Given the description of an element on the screen output the (x, y) to click on. 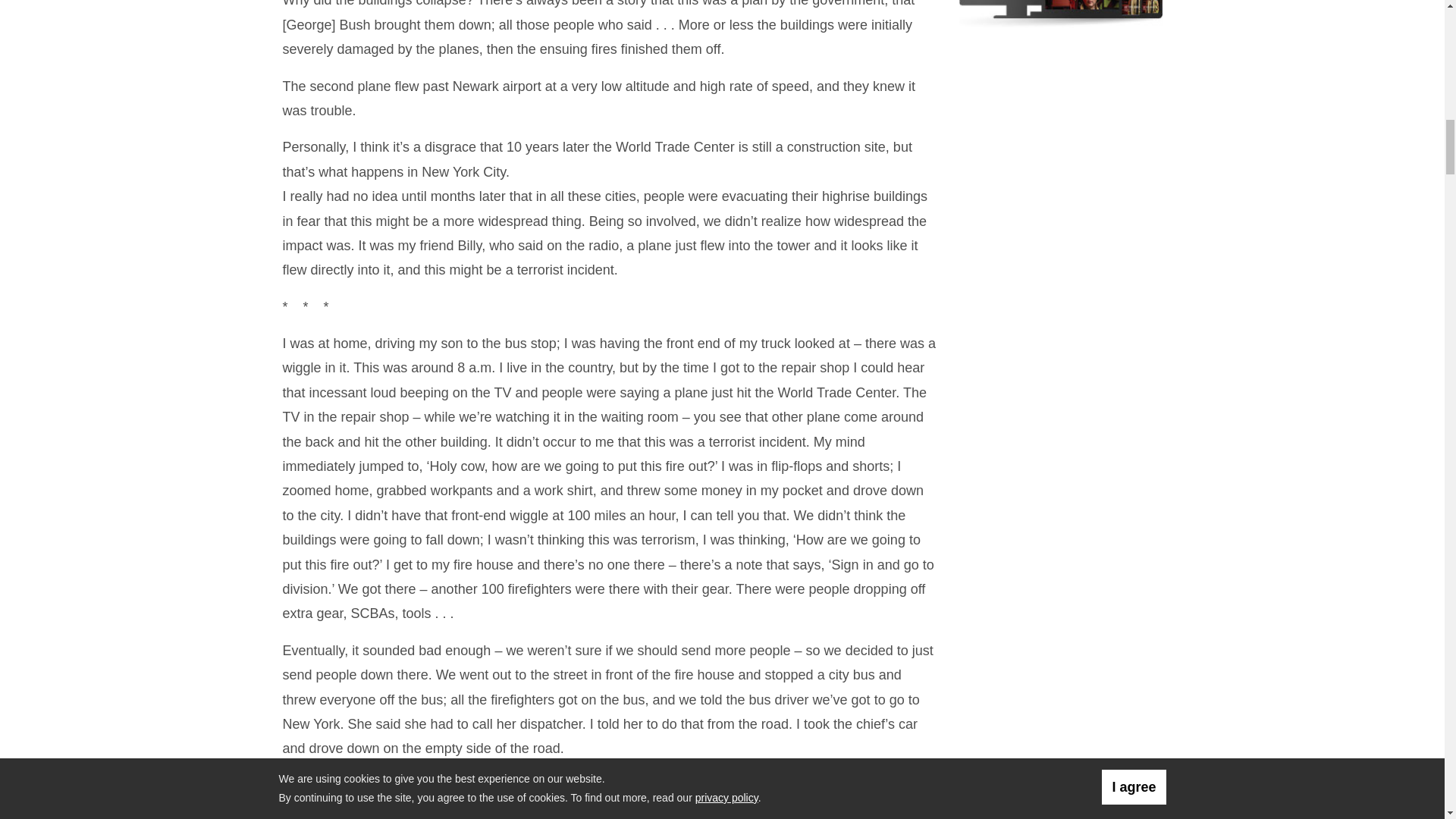
3rd party ad content (1060, 149)
